Given the description of an element on the screen output the (x, y) to click on. 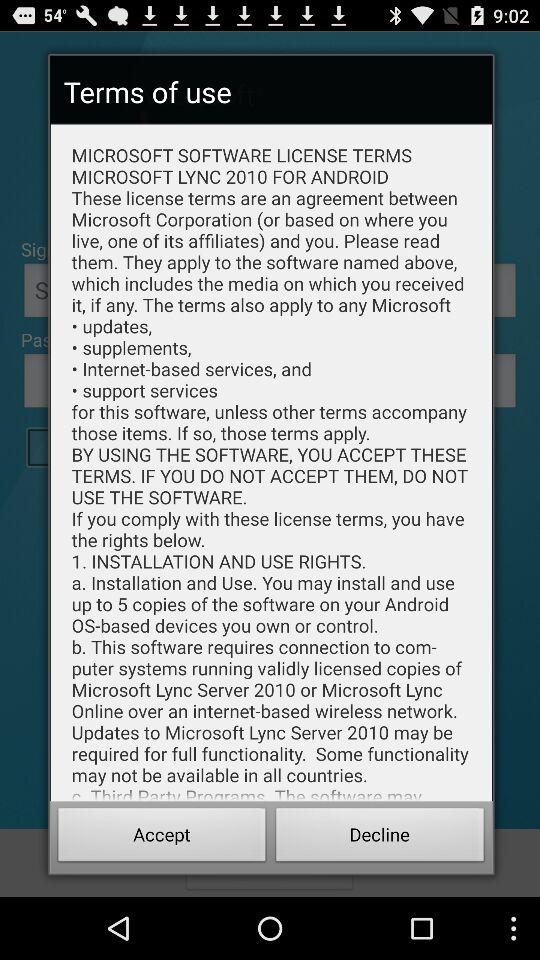
press the item to the right of accept item (380, 837)
